Given the description of an element on the screen output the (x, y) to click on. 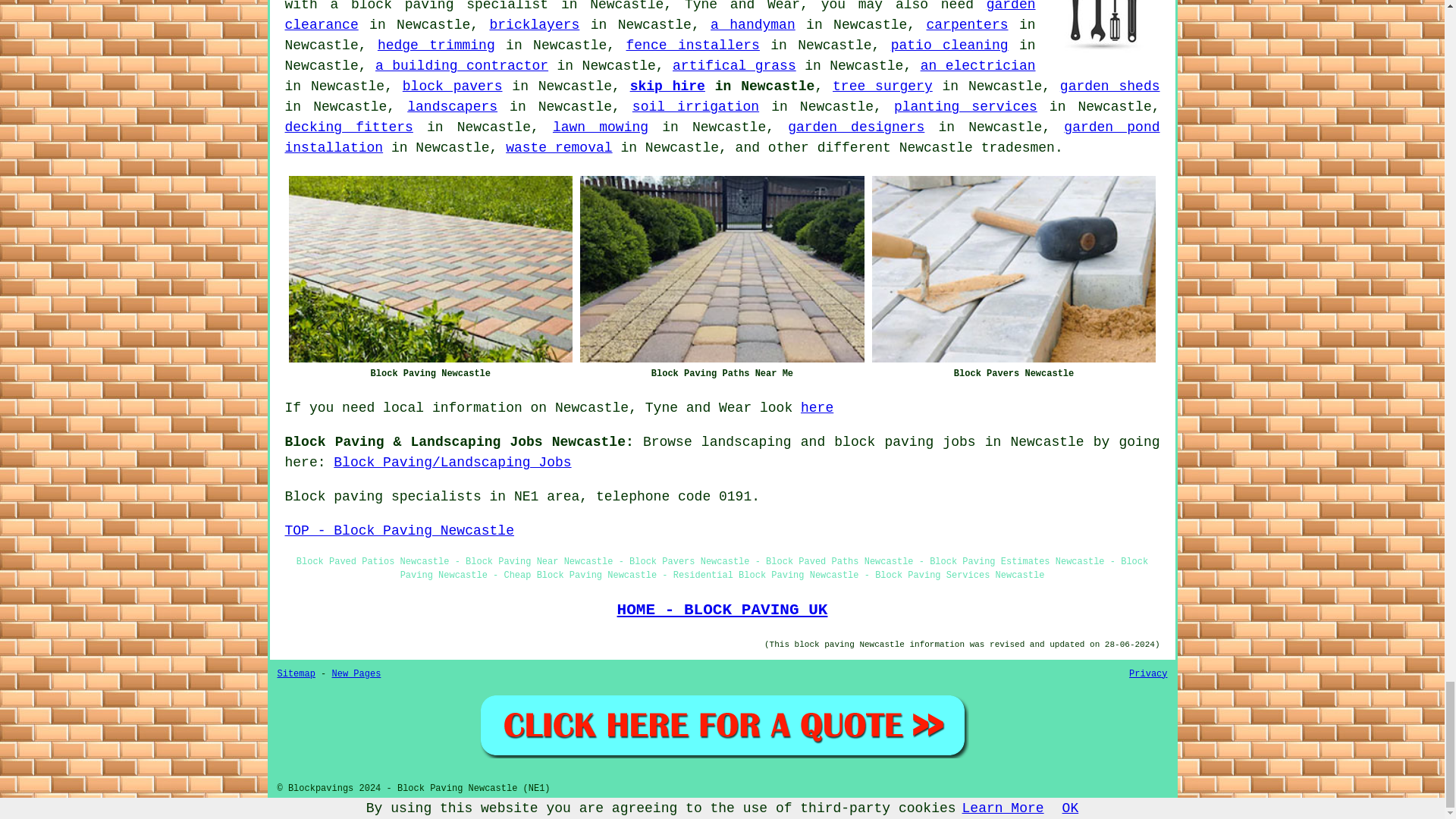
Block Pavers Newcastle UK (1014, 269)
Block Paving Paths Near Me Newcastle Tyne and Wear (721, 269)
Tyne and Wear Block Paving Near Me (1103, 33)
Block Paving Newcastle (430, 269)
